Given the description of an element on the screen output the (x, y) to click on. 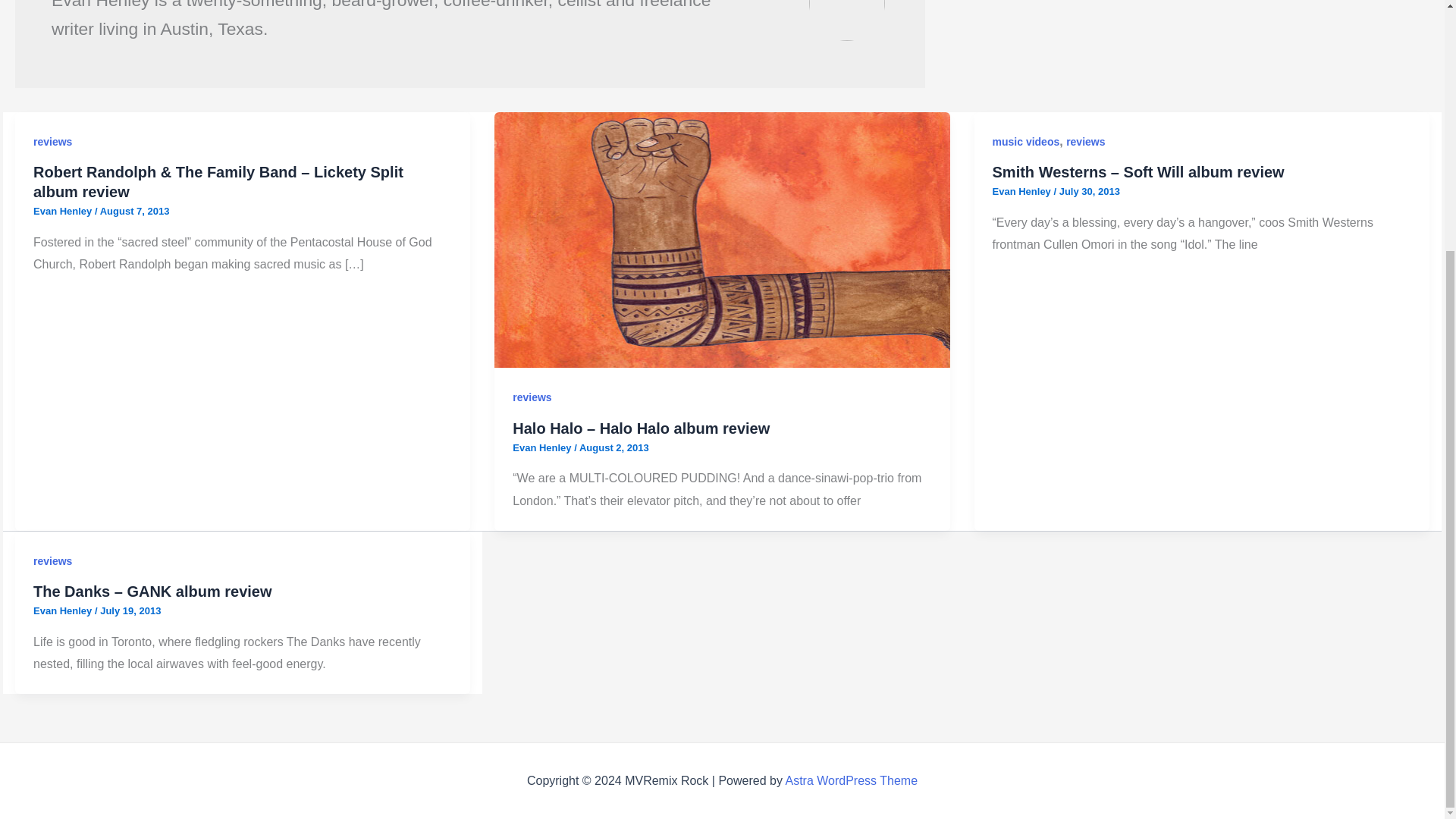
Evan Henley (1023, 191)
View all posts by Evan Henley (63, 211)
Evan Henley (63, 211)
View all posts by Evan Henley (542, 447)
Evan Henley (63, 610)
View all posts by Evan Henley (1023, 191)
reviews (1085, 141)
music videos (1025, 141)
reviews (52, 141)
Evan Henley (542, 447)
